Given the description of an element on the screen output the (x, y) to click on. 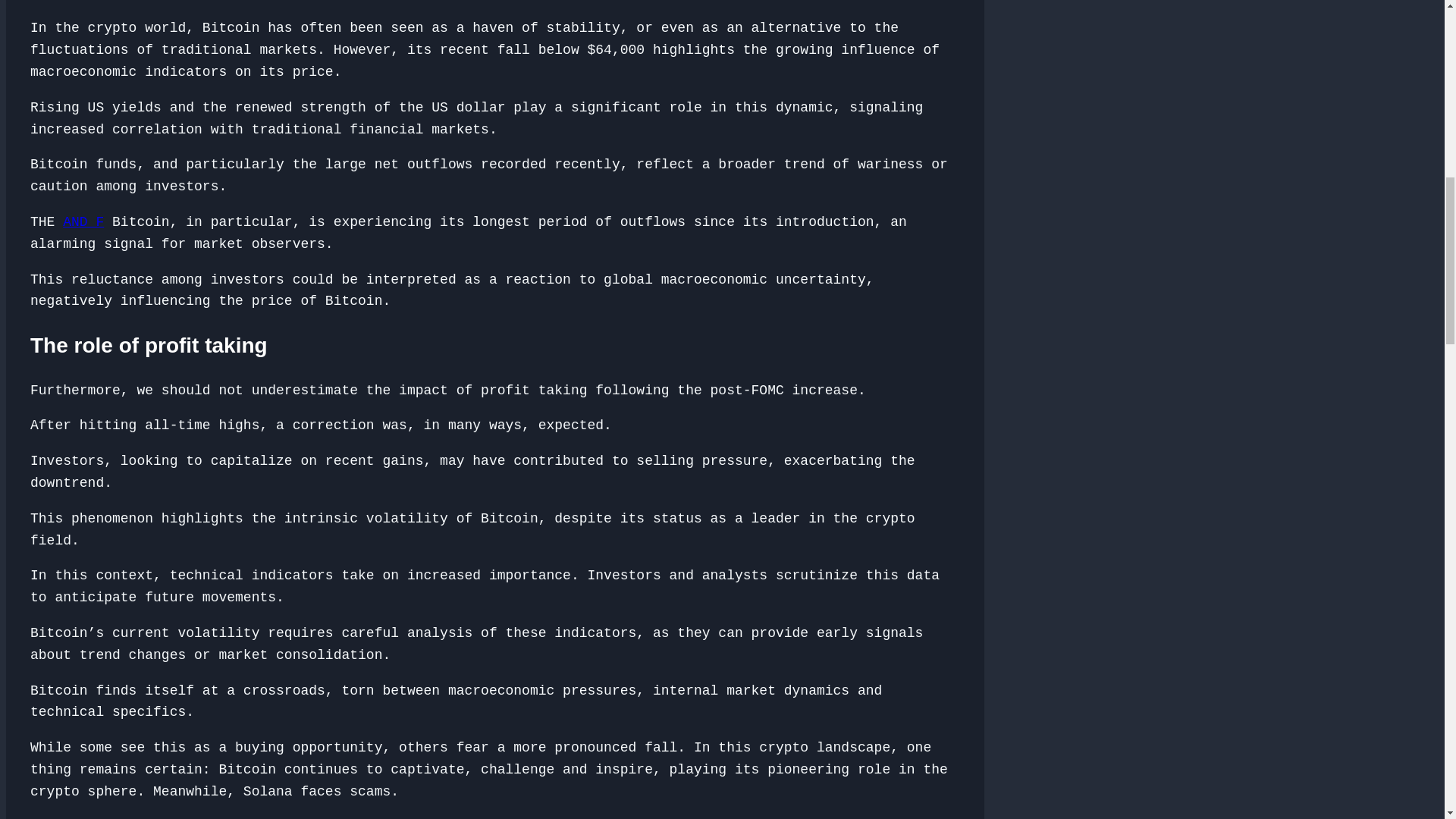
AND F (82, 222)
